Given the description of an element on the screen output the (x, y) to click on. 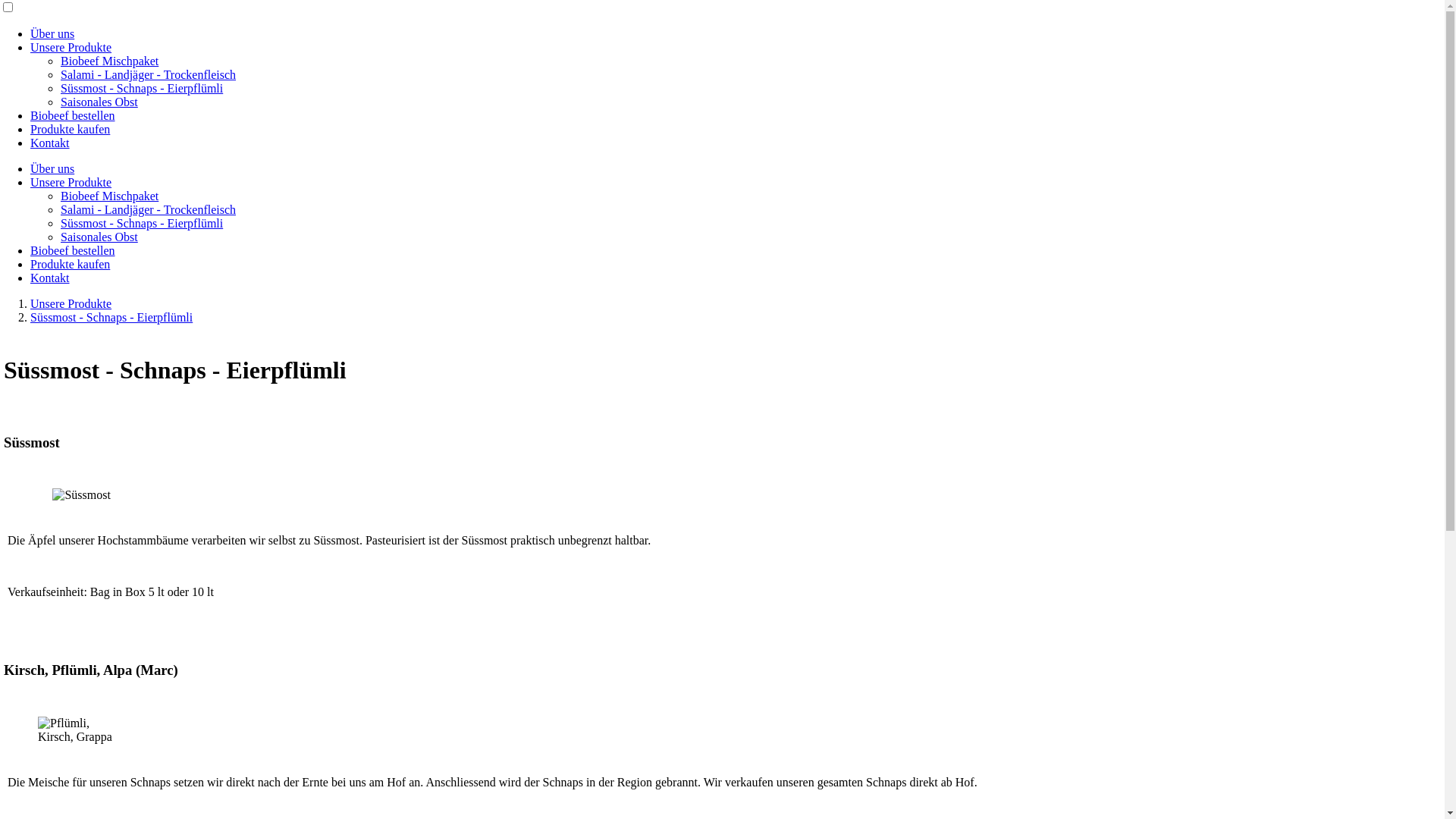
Saisonales Obst Element type: text (99, 101)
Saisonales Obst Element type: text (99, 236)
Produkte kaufen Element type: text (69, 128)
Unsere Produkte Element type: text (70, 303)
Biobeef bestellen Element type: text (72, 115)
Kontakt Element type: text (49, 142)
Unsere Produkte Element type: text (70, 46)
Biobeef Mischpaket Element type: text (109, 60)
Biobeef Mischpaket Element type: text (109, 195)
Unsere Produkte Element type: text (70, 181)
Produkte kaufen Element type: text (69, 263)
Kontakt Element type: text (49, 277)
Biobeef bestellen Element type: text (72, 250)
